Given the description of an element on the screen output the (x, y) to click on. 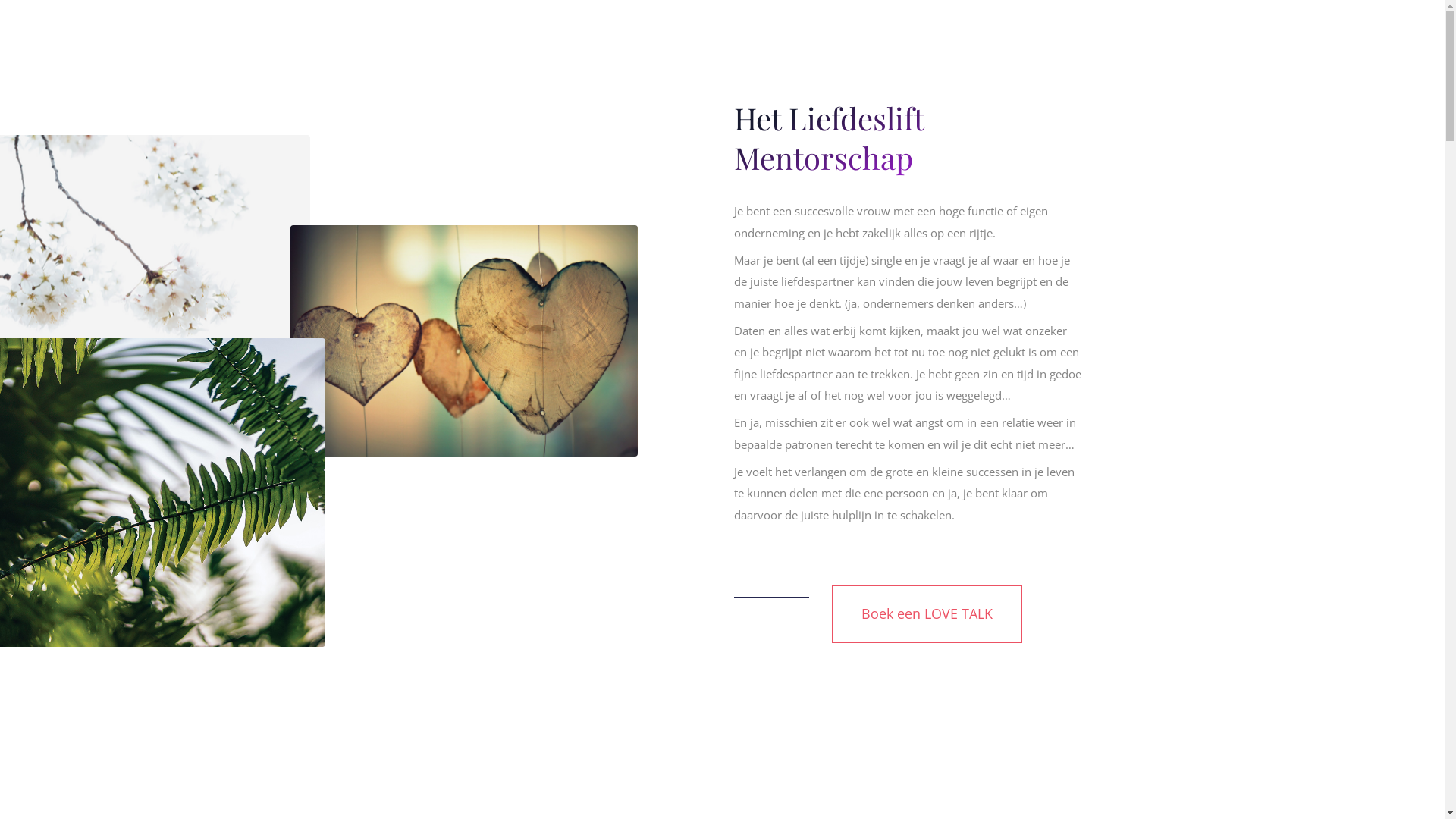
Boek een LOVE TALK Element type: text (926, 613)
